Given the description of an element on the screen output the (x, y) to click on. 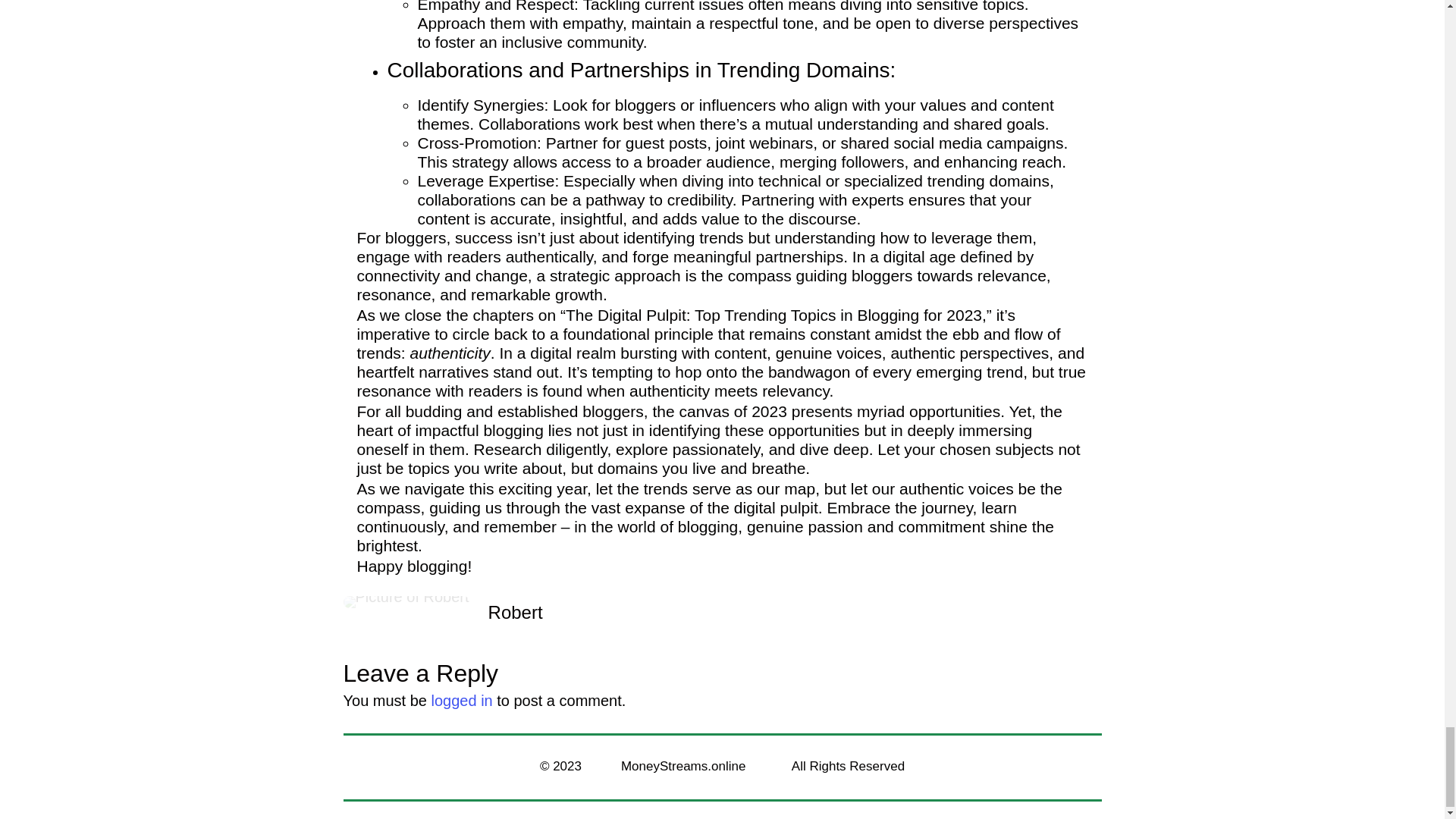
logged in (461, 700)
